Given the description of an element on the screen output the (x, y) to click on. 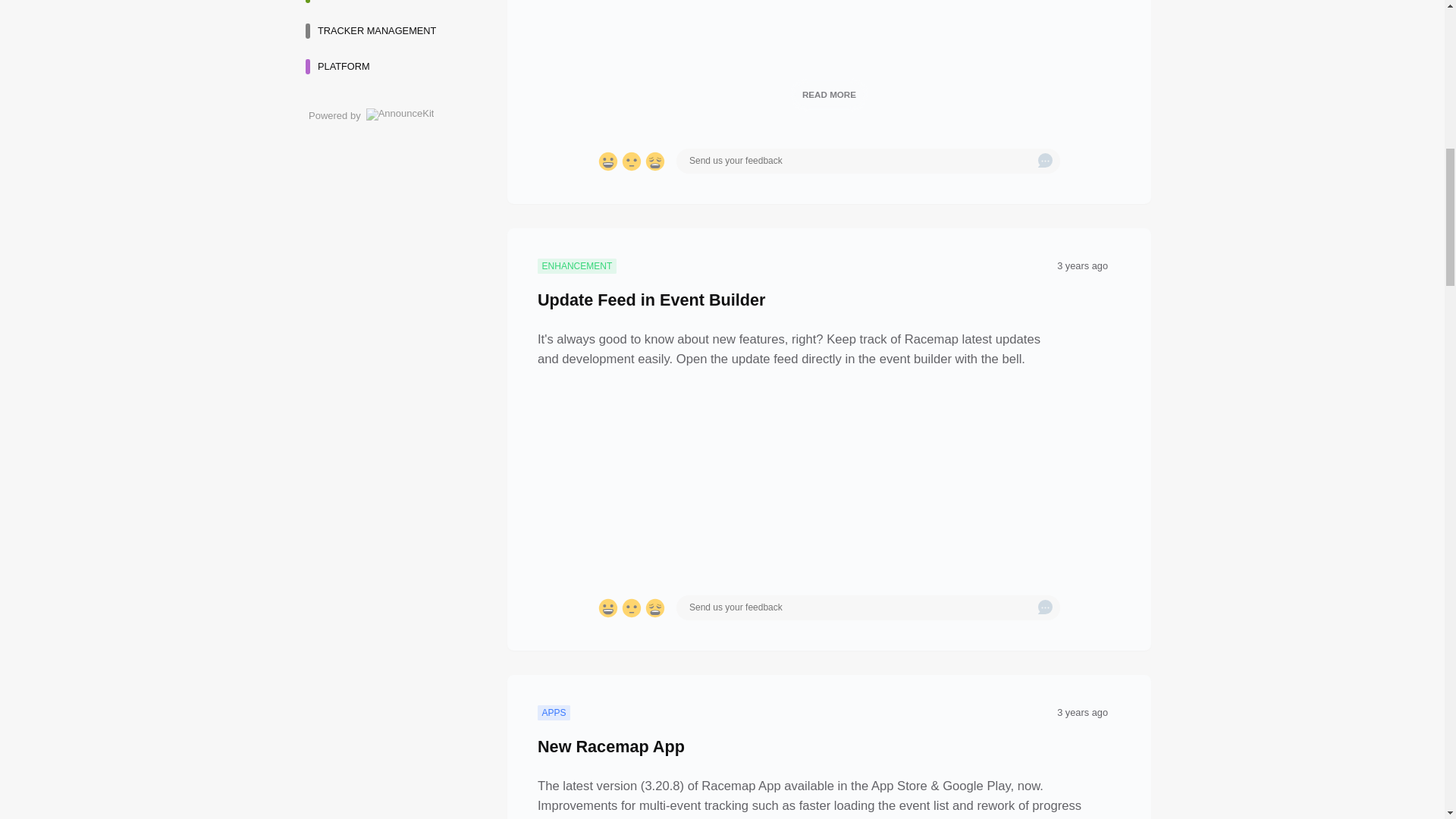
PARTICIPANTS DATA (388, 4)
Submit Button (1044, 161)
Submit Button (1044, 607)
TRACKER MANAGEMENT (388, 30)
PLATFORM (388, 66)
